Given the description of an element on the screen output the (x, y) to click on. 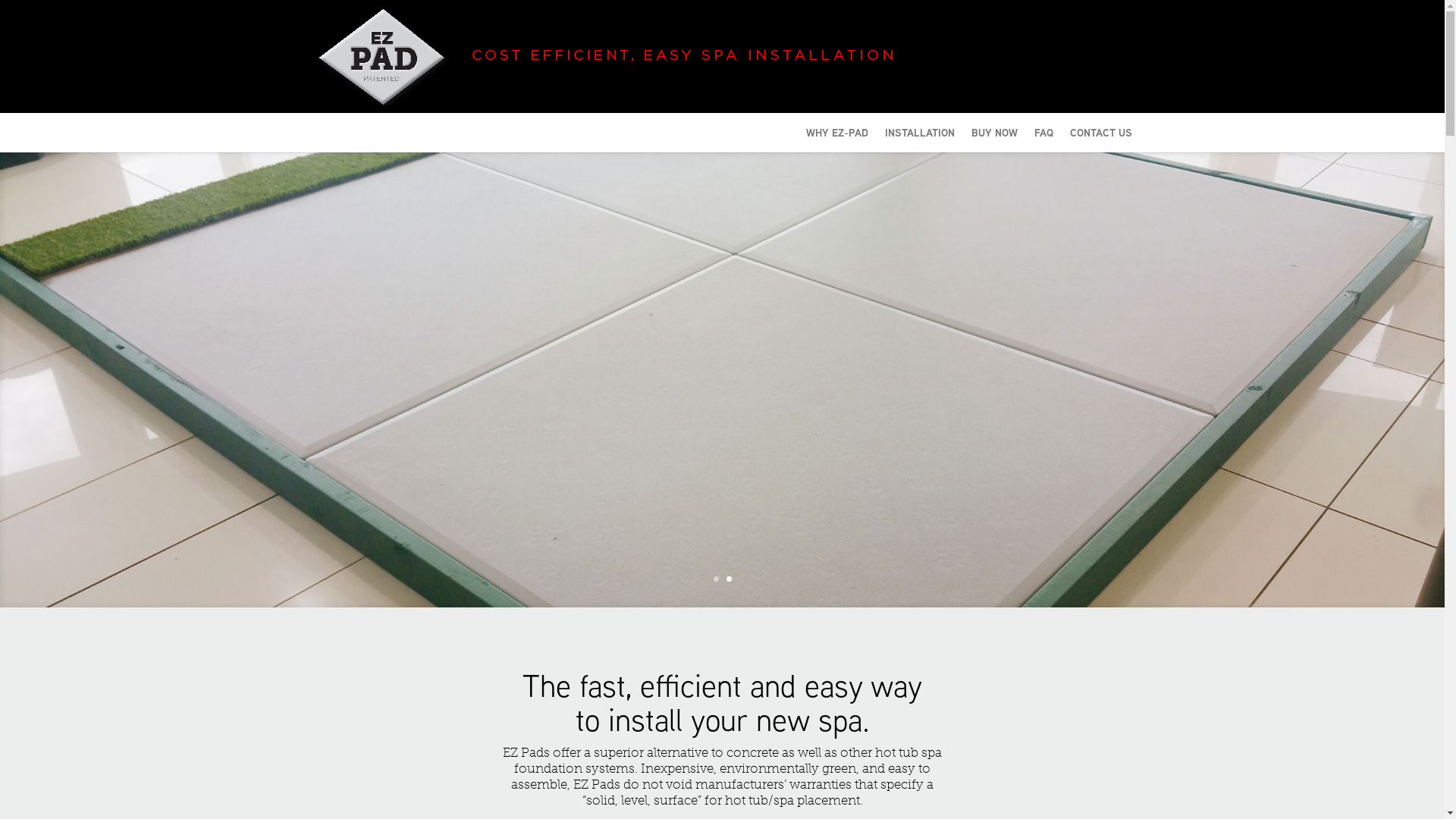
2 Element type: text (728, 578)
1 Element type: text (715, 578)
CONTACT US Element type: text (1100, 139)
FAQ Element type: text (1043, 139)
BUY NOW Element type: text (993, 139)
WHY EZ-PAD Element type: text (836, 139)
INSTALLATION Element type: text (918, 139)
